Given the description of an element on the screen output the (x, y) to click on. 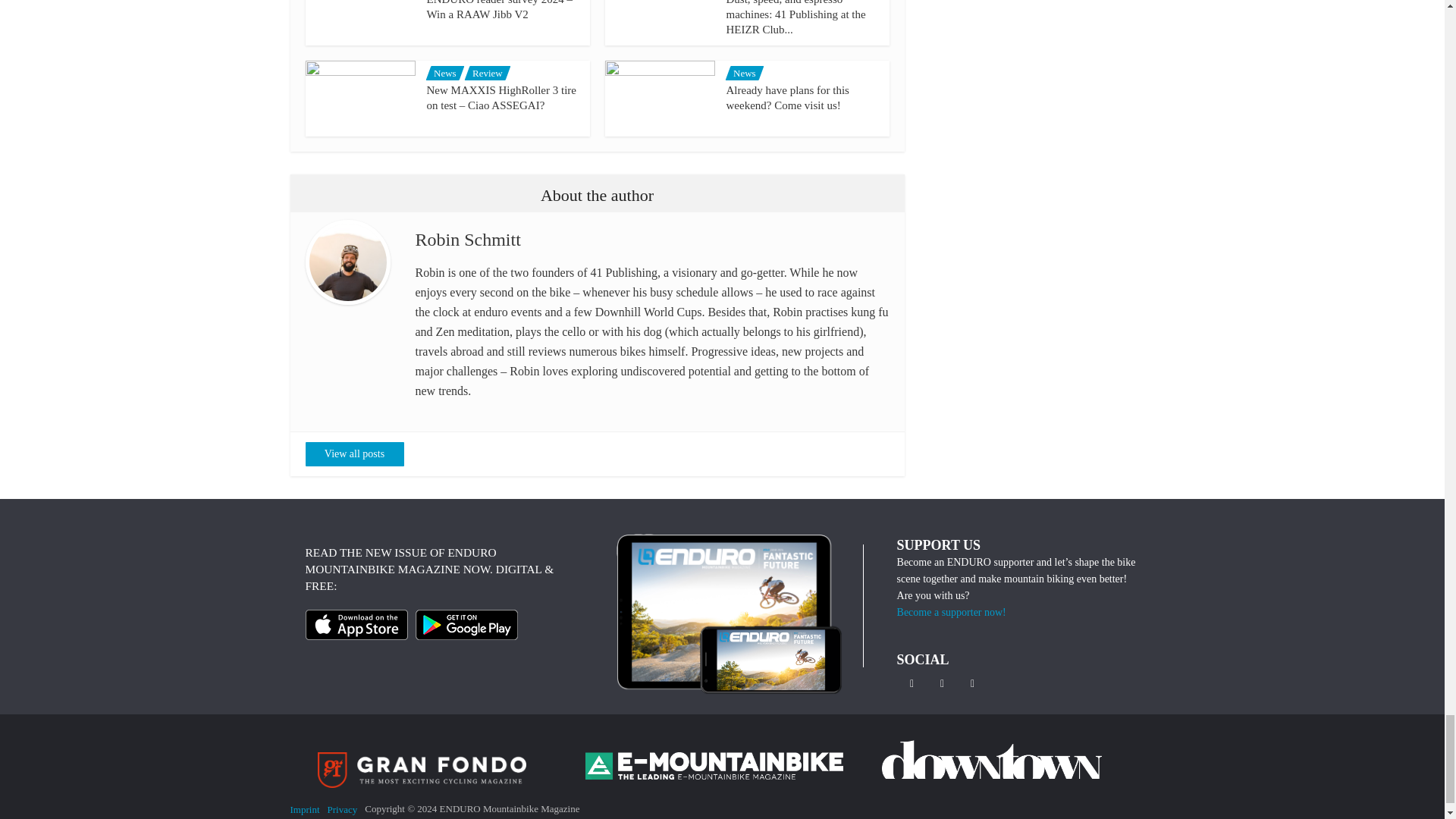
Already have plans for this weekend? Come visit us! (787, 97)
